Given the description of an element on the screen output the (x, y) to click on. 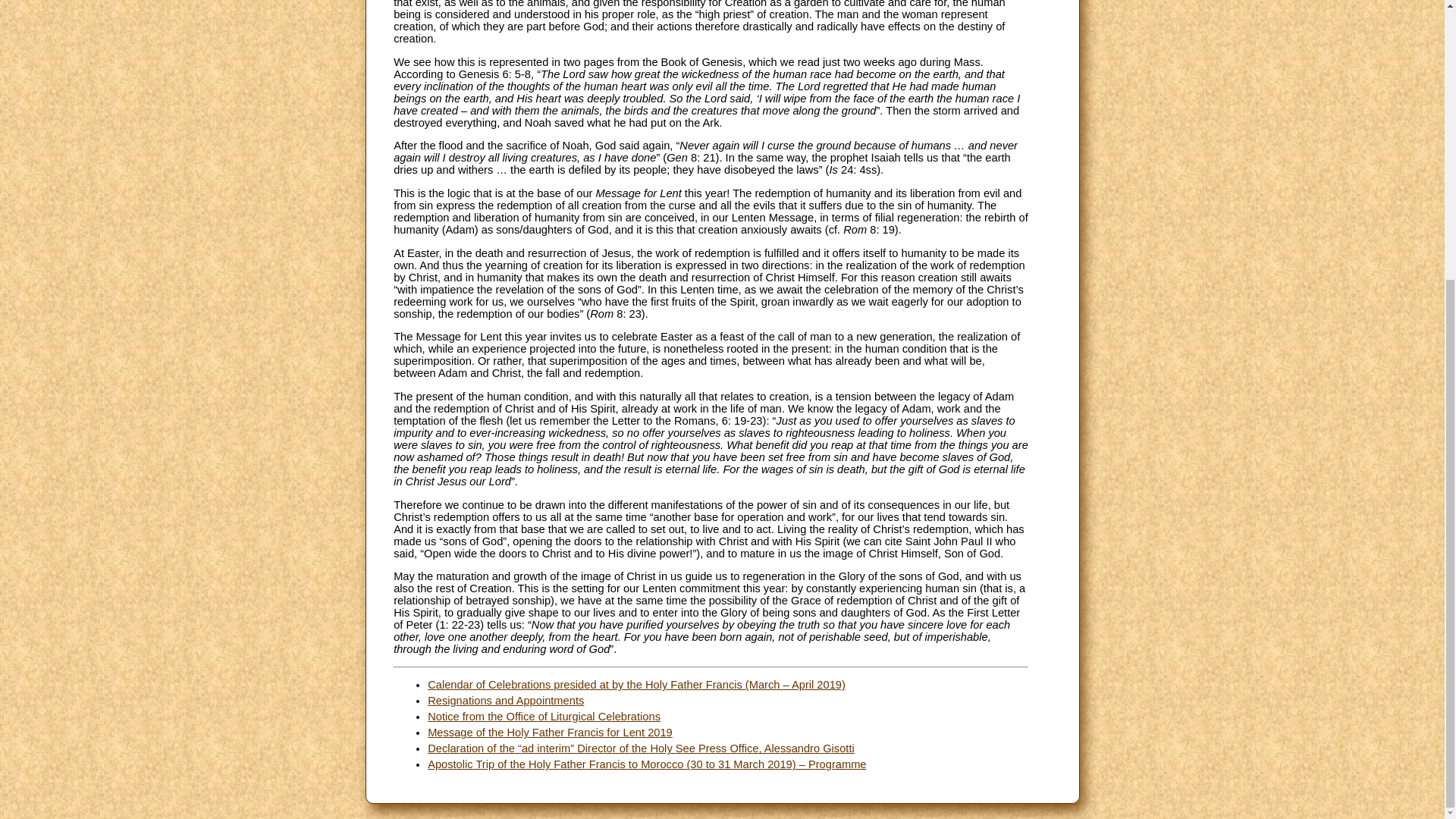
Notice from the Office of Liturgical Celebrations (544, 716)
Resignations and Appointments (505, 700)
Message of the Holy Father Francis for Lent 2019 (550, 732)
